Given the description of an element on the screen output the (x, y) to click on. 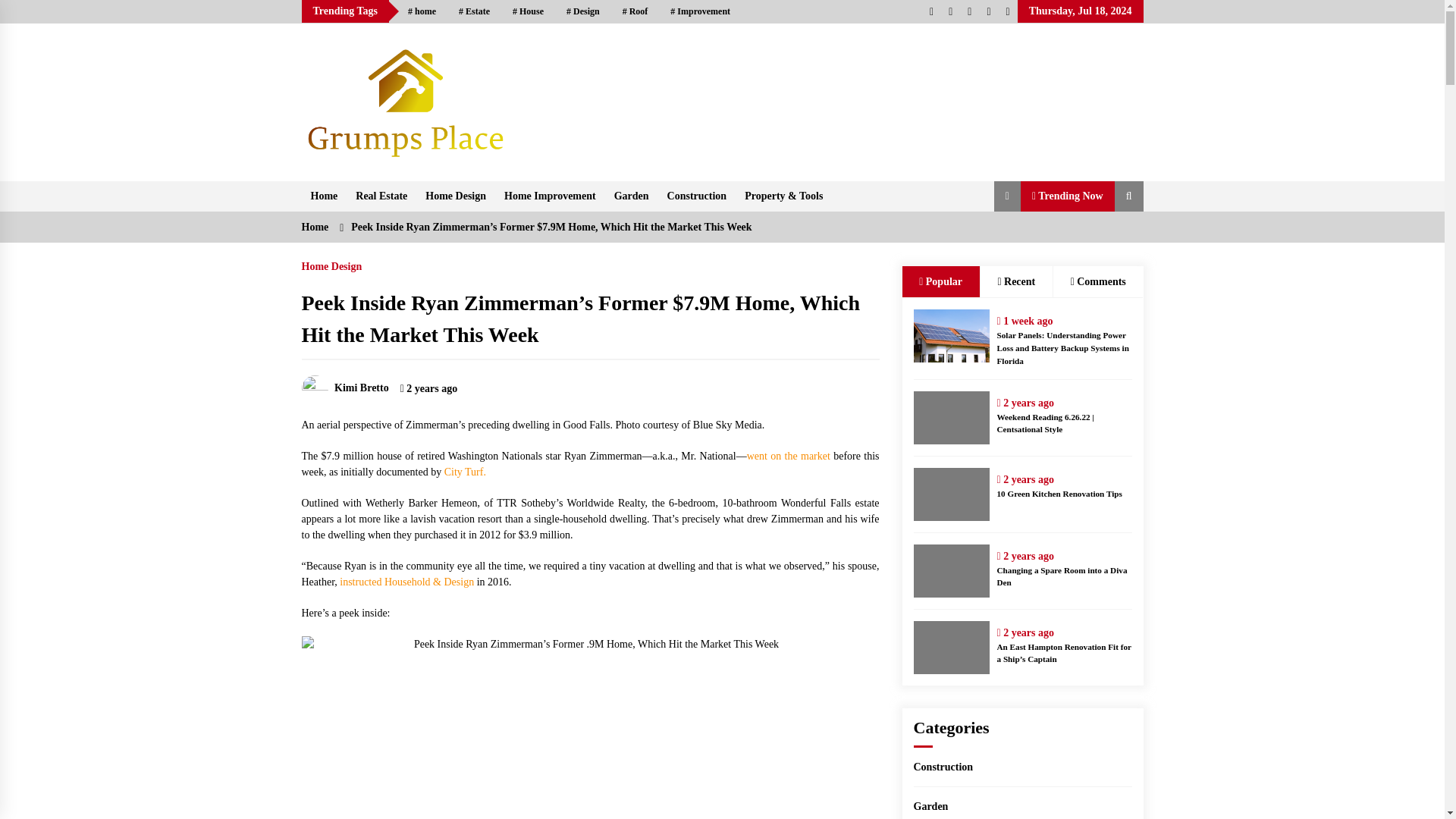
Home Design (455, 195)
Design (582, 11)
Estate (473, 11)
Garden (631, 195)
Home Improvement (550, 195)
House (527, 11)
Construction (697, 195)
home (421, 11)
Improvement (700, 11)
Real Estate (381, 195)
